Given the description of an element on the screen output the (x, y) to click on. 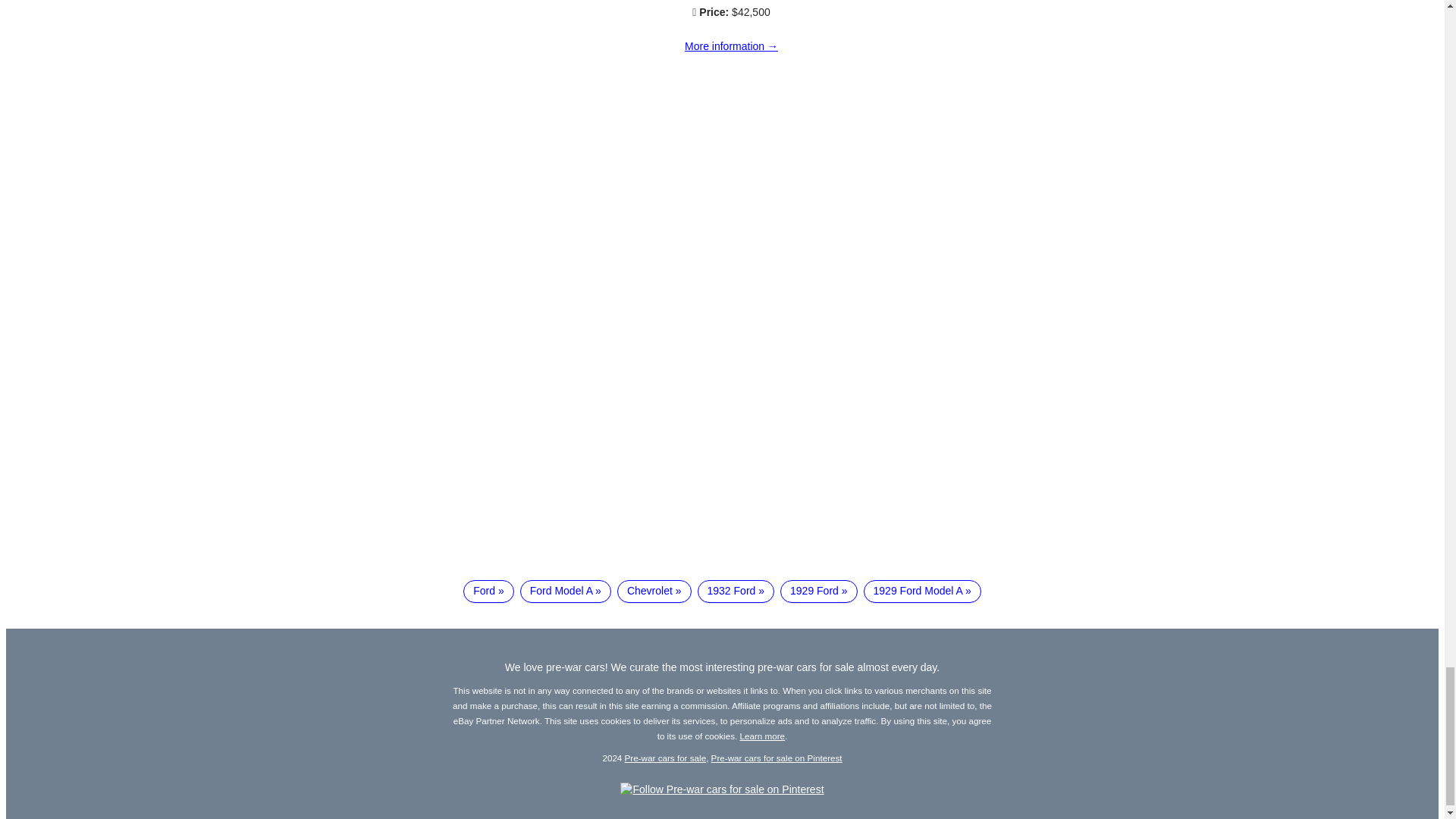
Ford (488, 590)
1929 Ford (818, 590)
Chevrolet (654, 590)
1932 Ford (735, 590)
Follow Pre-war cars for sale on Pinterest (722, 788)
Ford Model A (565, 590)
Pre-war cars for sale on Pinterest (777, 757)
1929 Ford Model A (922, 590)
Learn more (762, 736)
Pre-war cars for sale (665, 757)
